Given the description of an element on the screen output the (x, y) to click on. 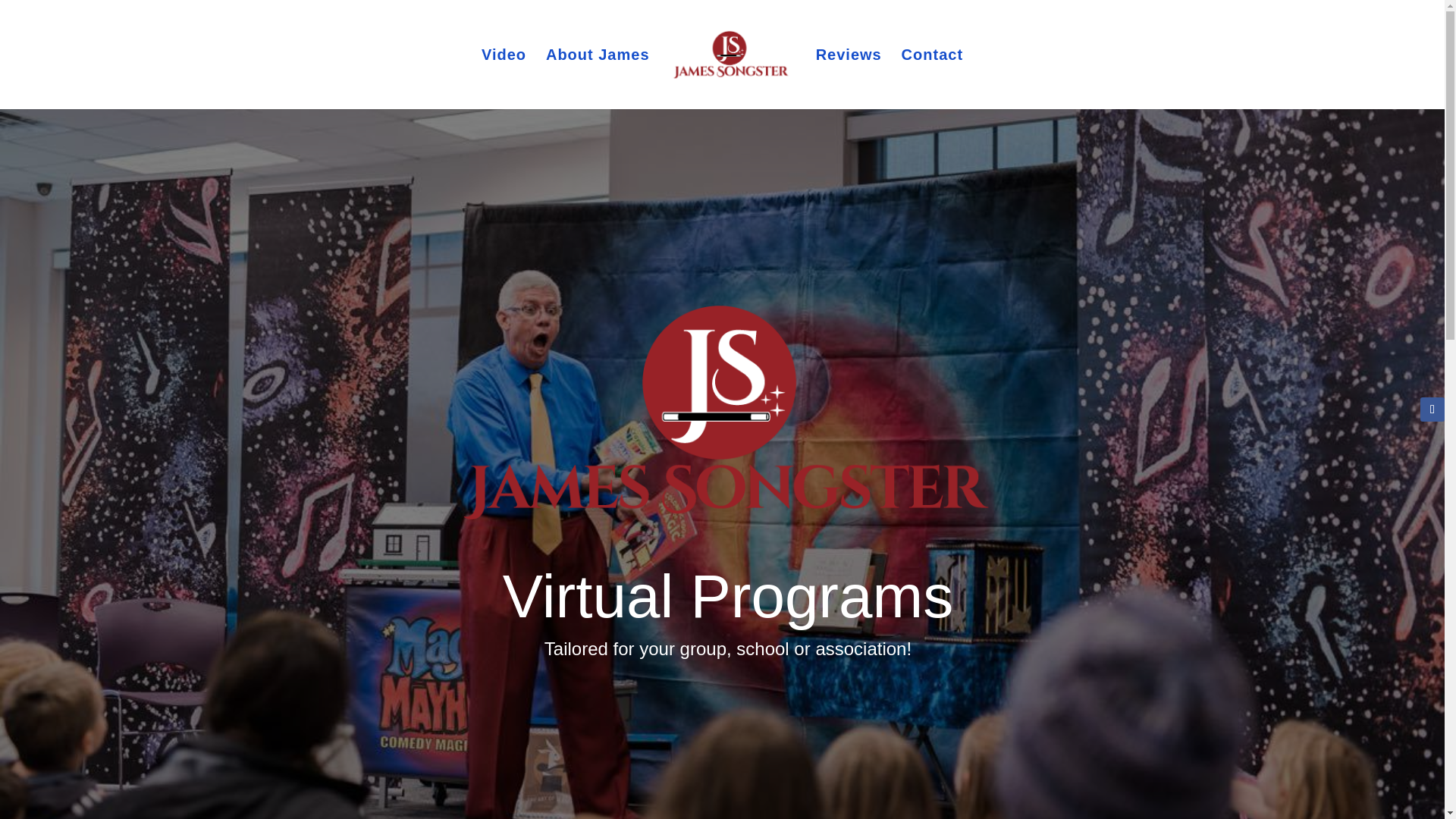
About James (597, 78)
Follow on Facebook (1432, 409)
Contact (931, 78)
Video (503, 78)
Reviews (848, 78)
